Given the description of an element on the screen output the (x, y) to click on. 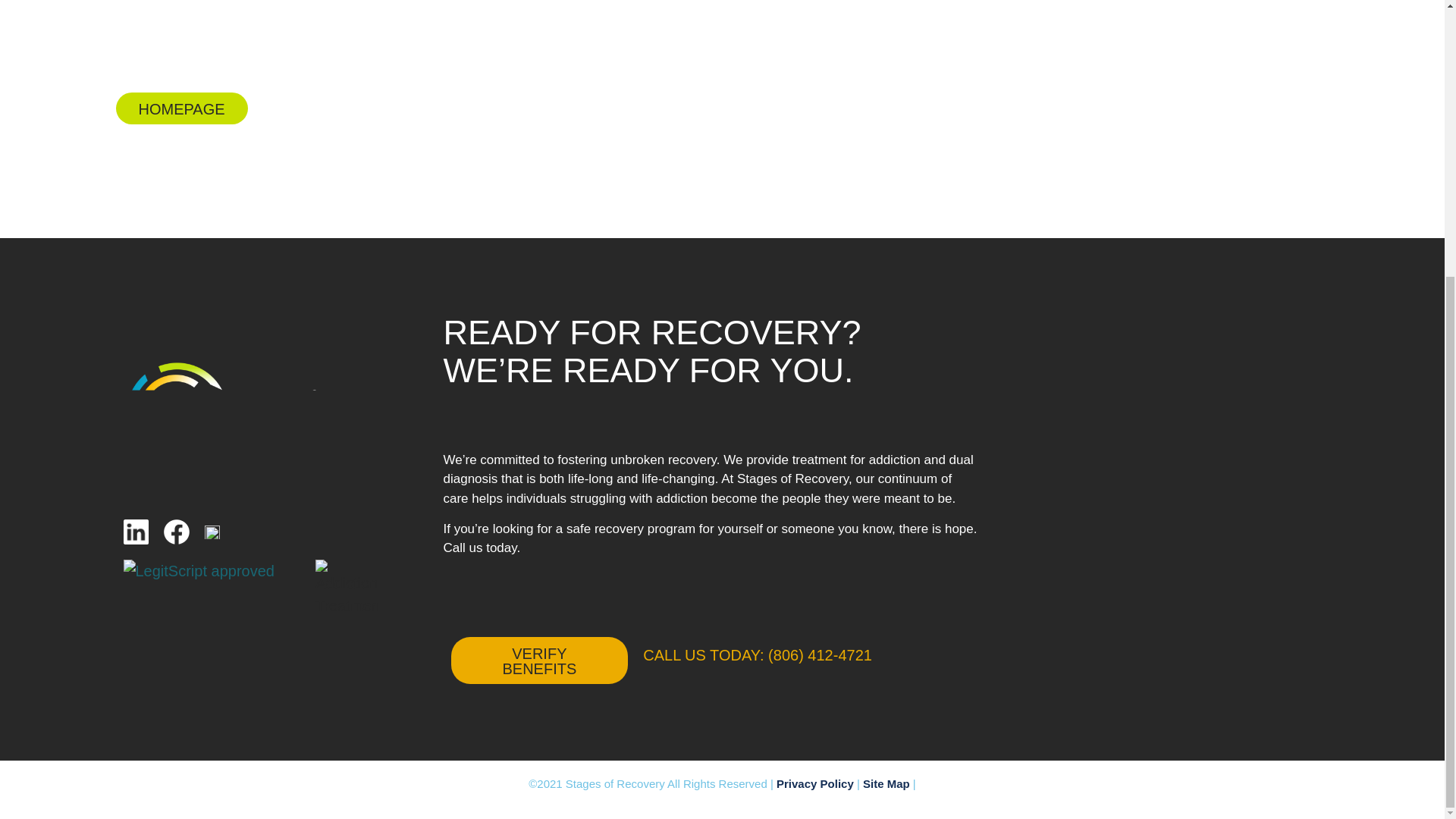
Verify LegitScript Approval (197, 570)
